Given the description of an element on the screen output the (x, y) to click on. 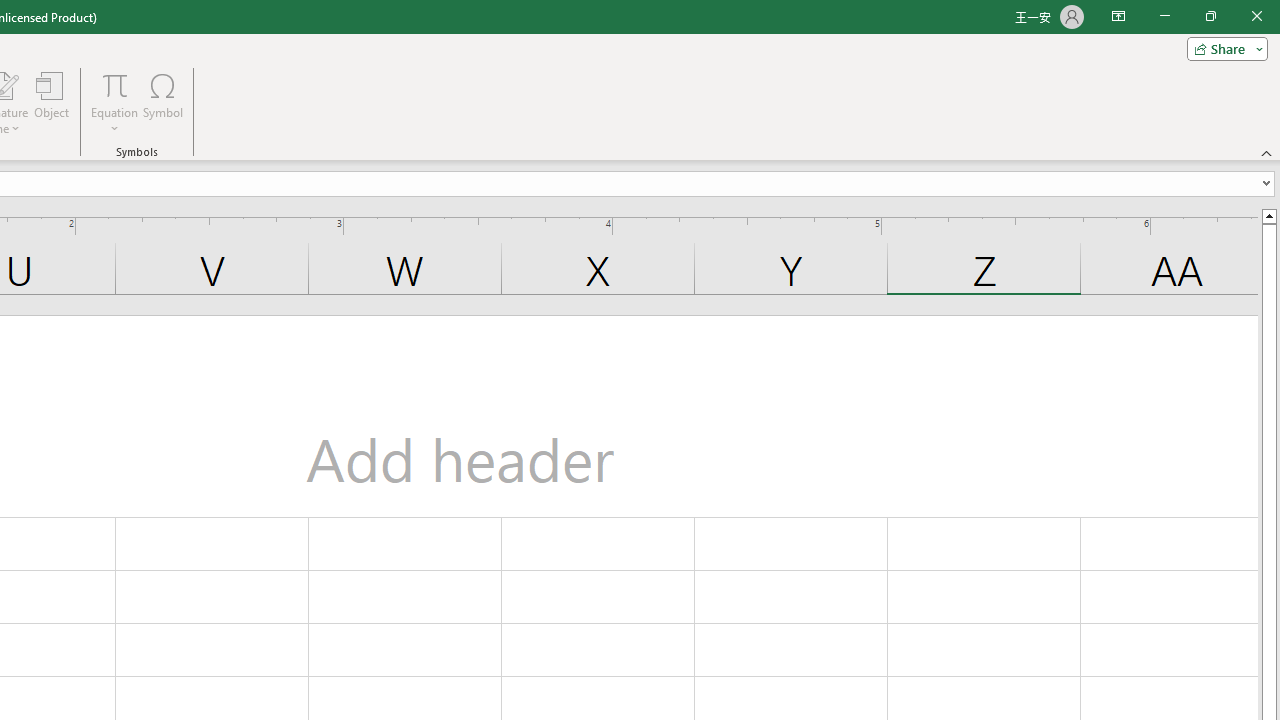
Symbol... (162, 102)
Object... (51, 102)
Equation (114, 102)
Equation (114, 84)
